Given the description of an element on the screen output the (x, y) to click on. 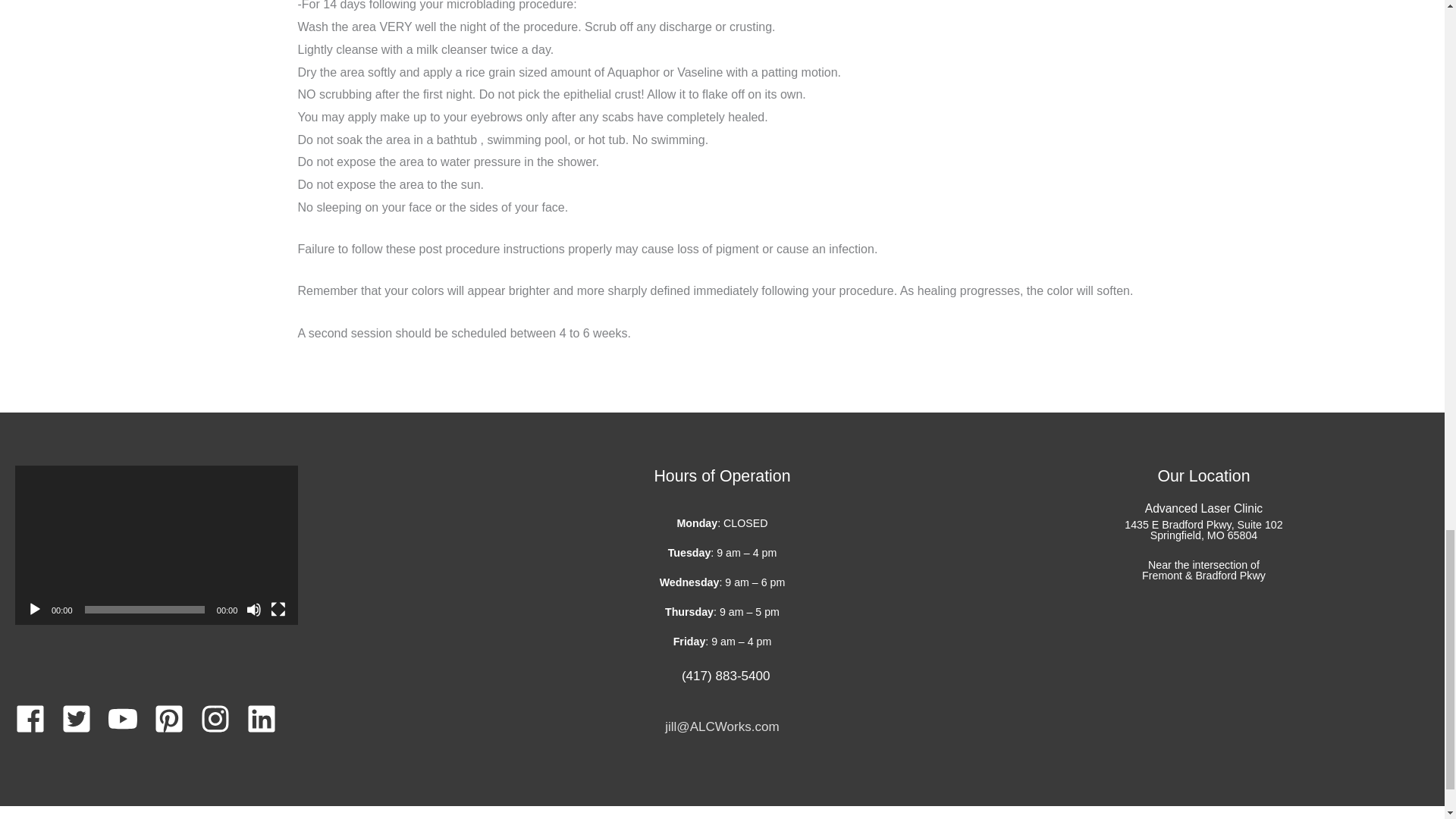
Fullscreen (277, 609)
Mute (254, 609)
Play (34, 609)
